Given the description of an element on the screen output the (x, y) to click on. 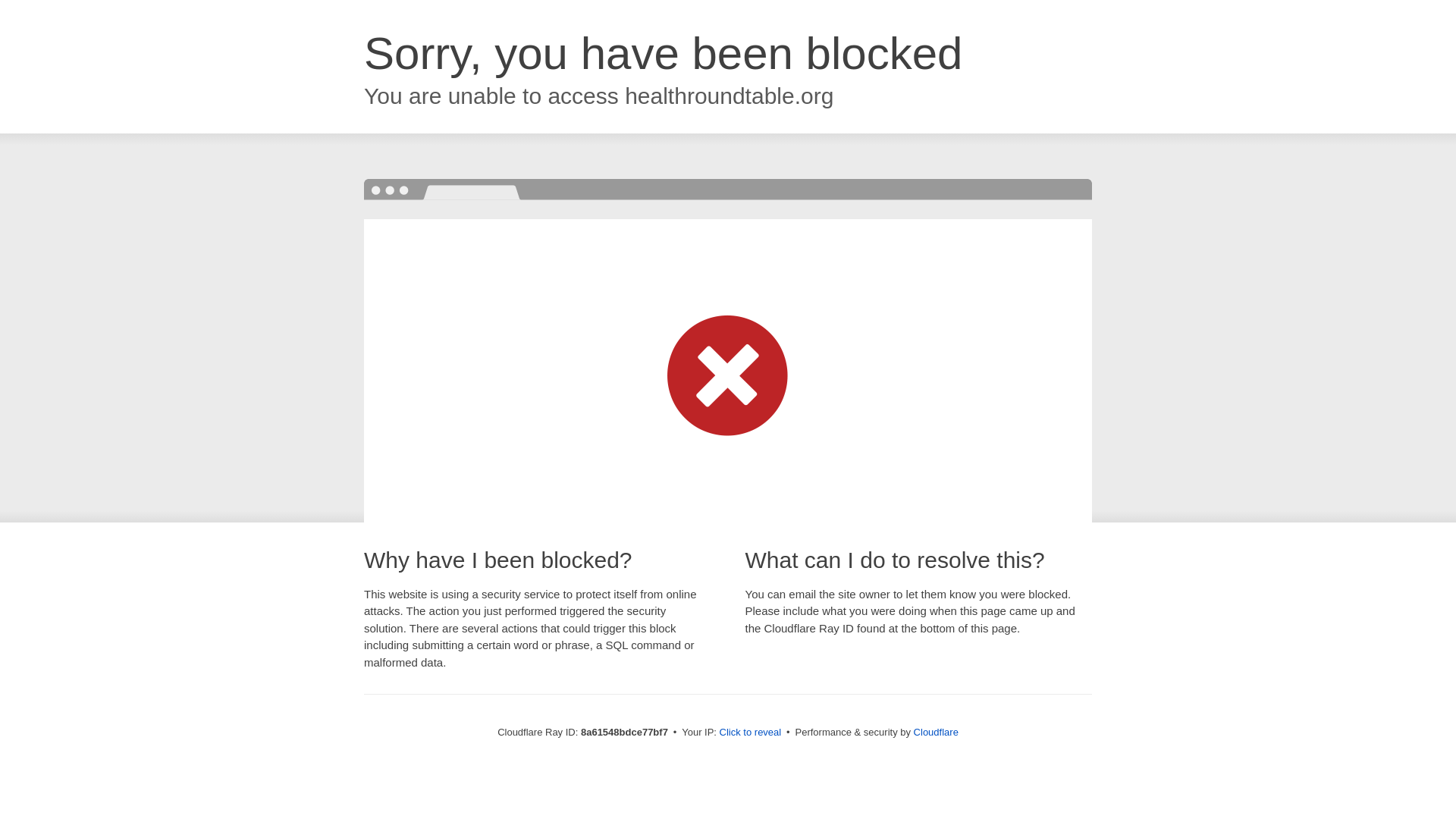
Cloudflare (936, 731)
Click to reveal (750, 732)
